Given the description of an element on the screen output the (x, y) to click on. 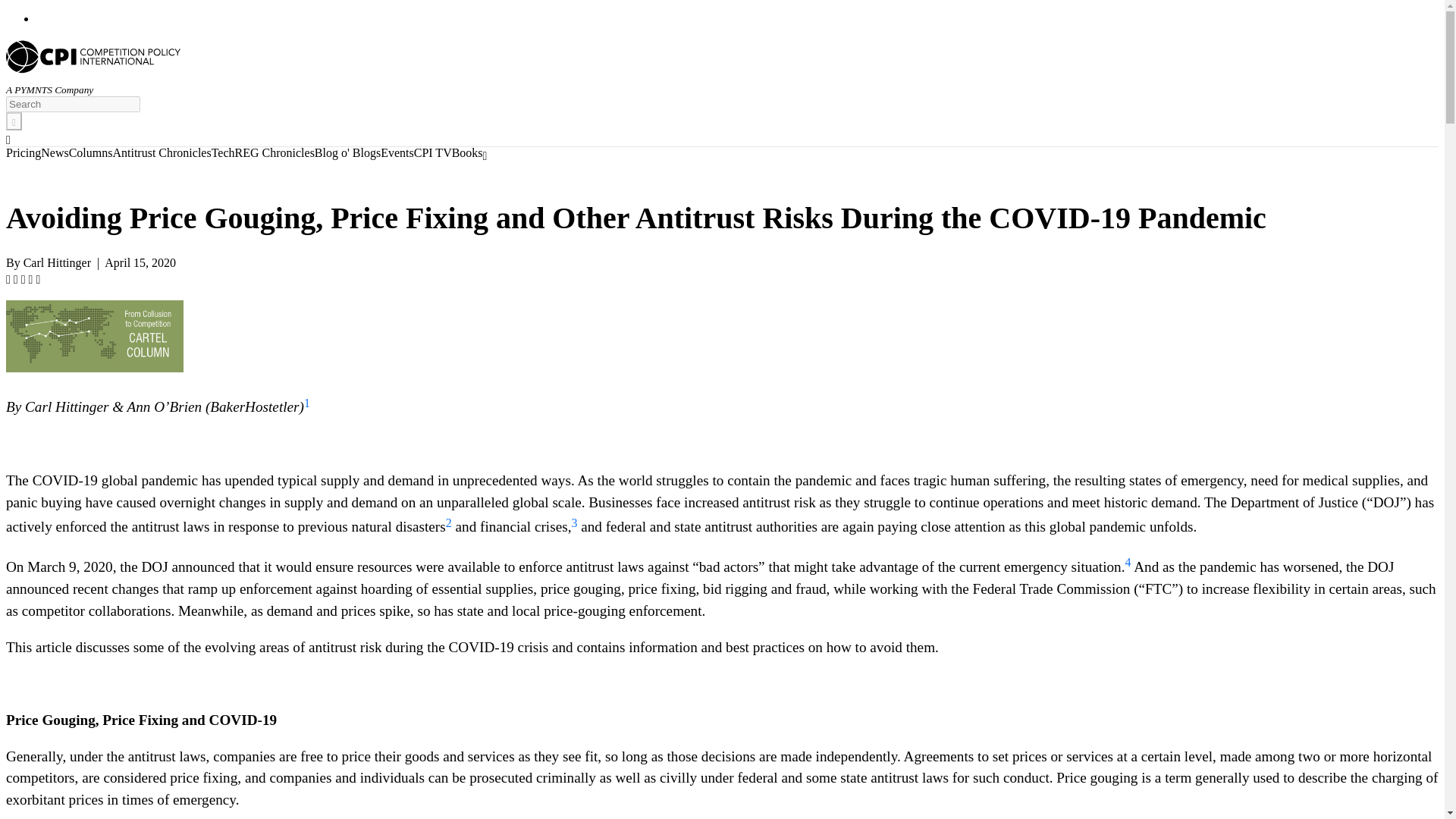
Pricing (22, 154)
4 (1128, 566)
CPI TV (432, 154)
Books (467, 154)
Antitrust Chronicles (161, 154)
TechREG Chronicles (262, 154)
Events (396, 154)
Blog o' Blogs (347, 154)
News (54, 154)
Carl Hittinger (56, 262)
Columns (90, 154)
2 (448, 527)
Posts by Carl Hittinger (56, 262)
Cartel Column (94, 336)
1 (307, 407)
